Given the description of an element on the screen output the (x, y) to click on. 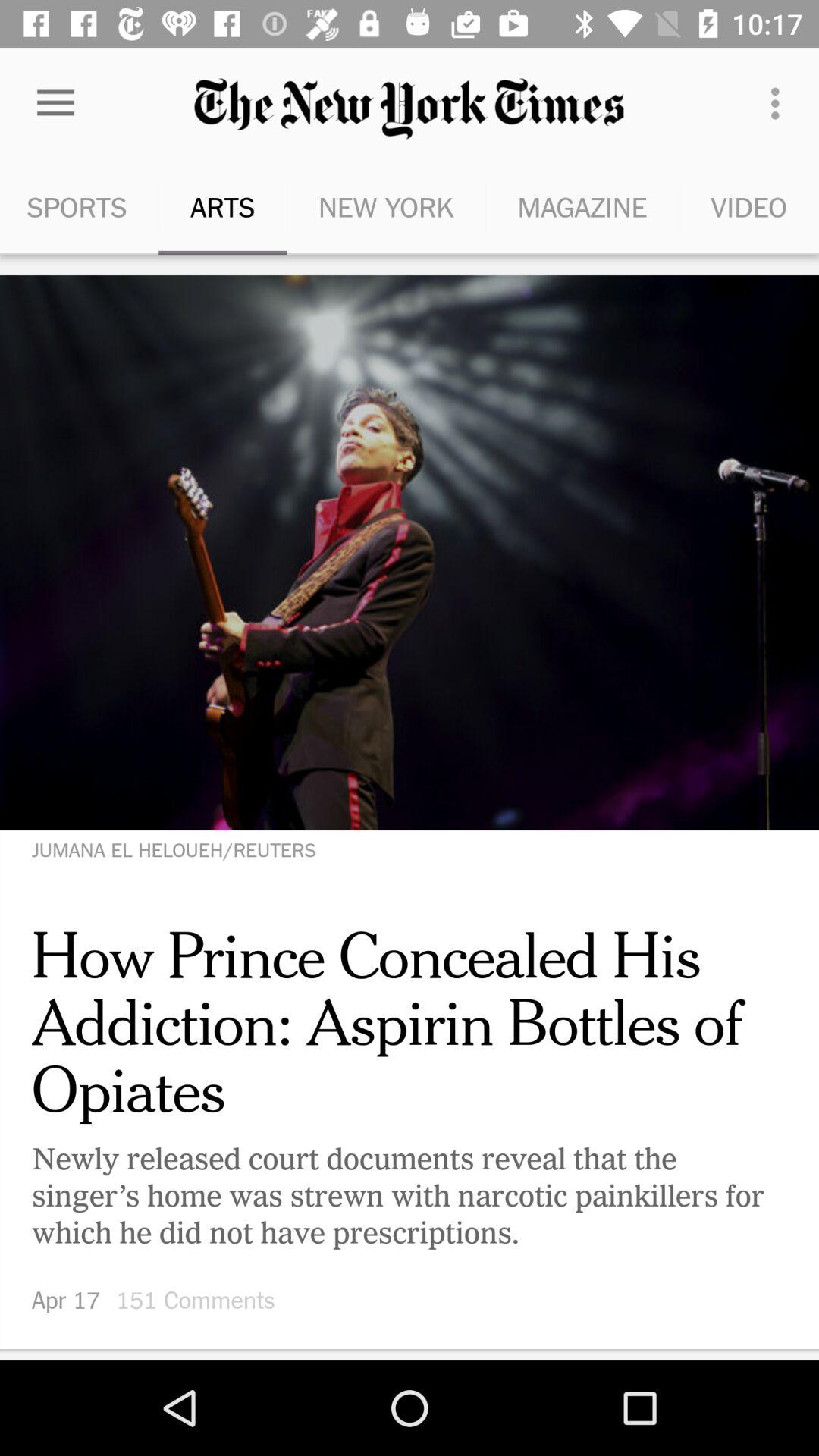
open the item next to arts item (385, 206)
